Given the description of an element on the screen output the (x, y) to click on. 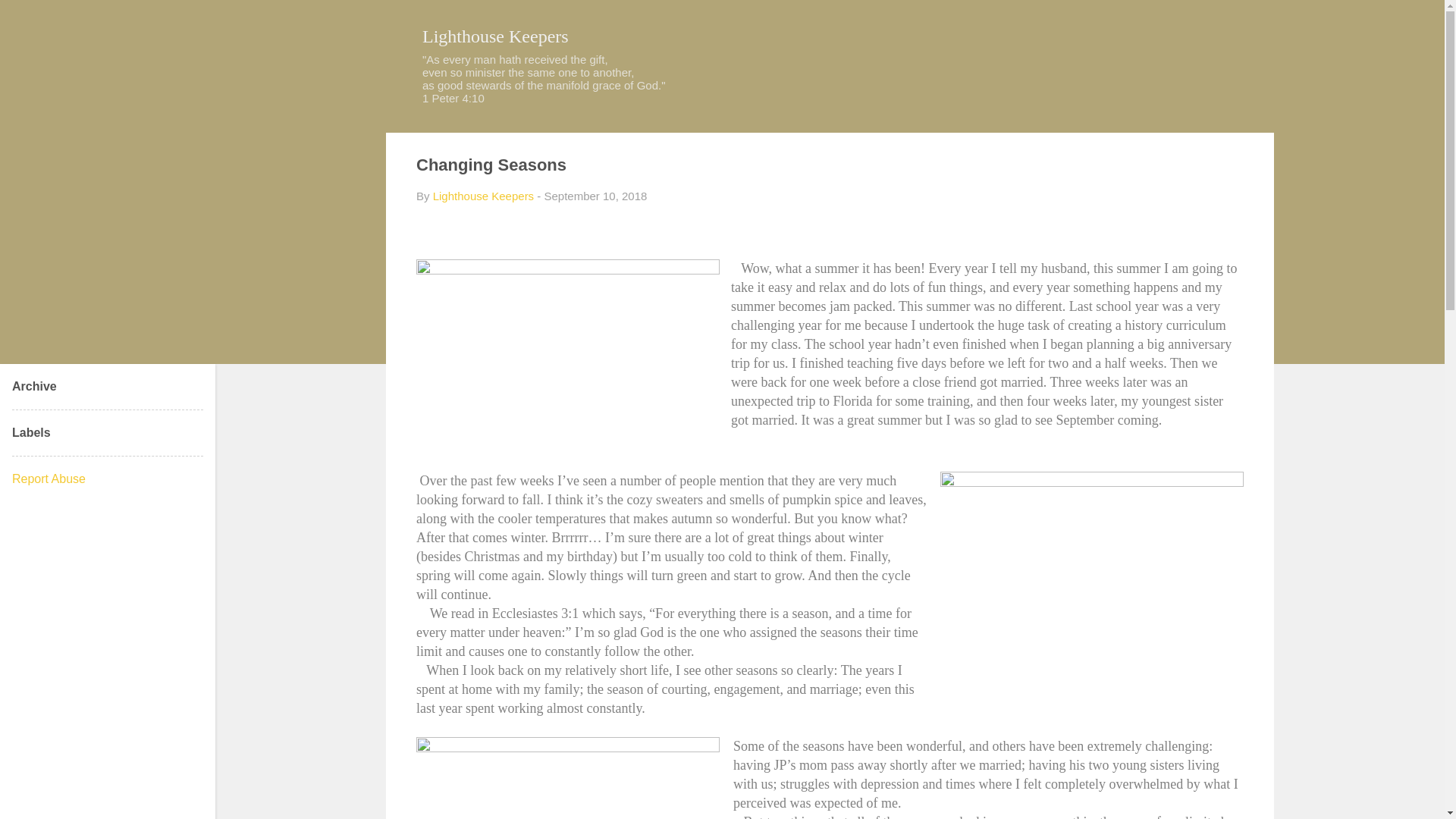
Search (29, 18)
September 10, 2018 (594, 195)
Lighthouse Keepers (483, 195)
author profile (483, 195)
Lighthouse Keepers (495, 35)
permanent link (594, 195)
